Given the description of an element on the screen output the (x, y) to click on. 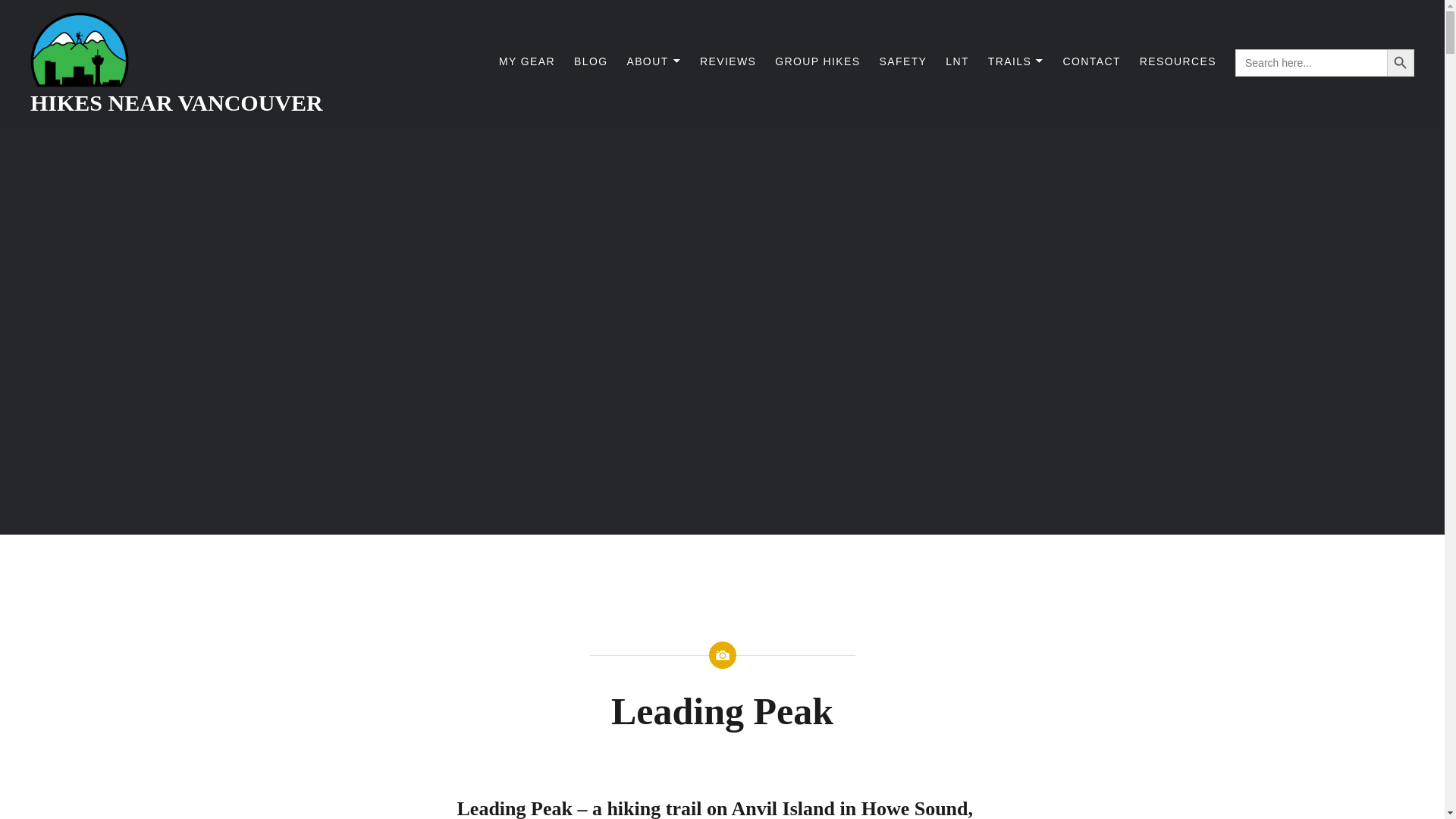
Search (207, 18)
REVIEWS (727, 61)
LNT (956, 61)
ABOUT (653, 61)
BLOG (590, 61)
MY GEAR (526, 61)
SAFETY (902, 61)
Search (207, 18)
Search (207, 18)
GROUP HIKES (817, 61)
